Given the description of an element on the screen output the (x, y) to click on. 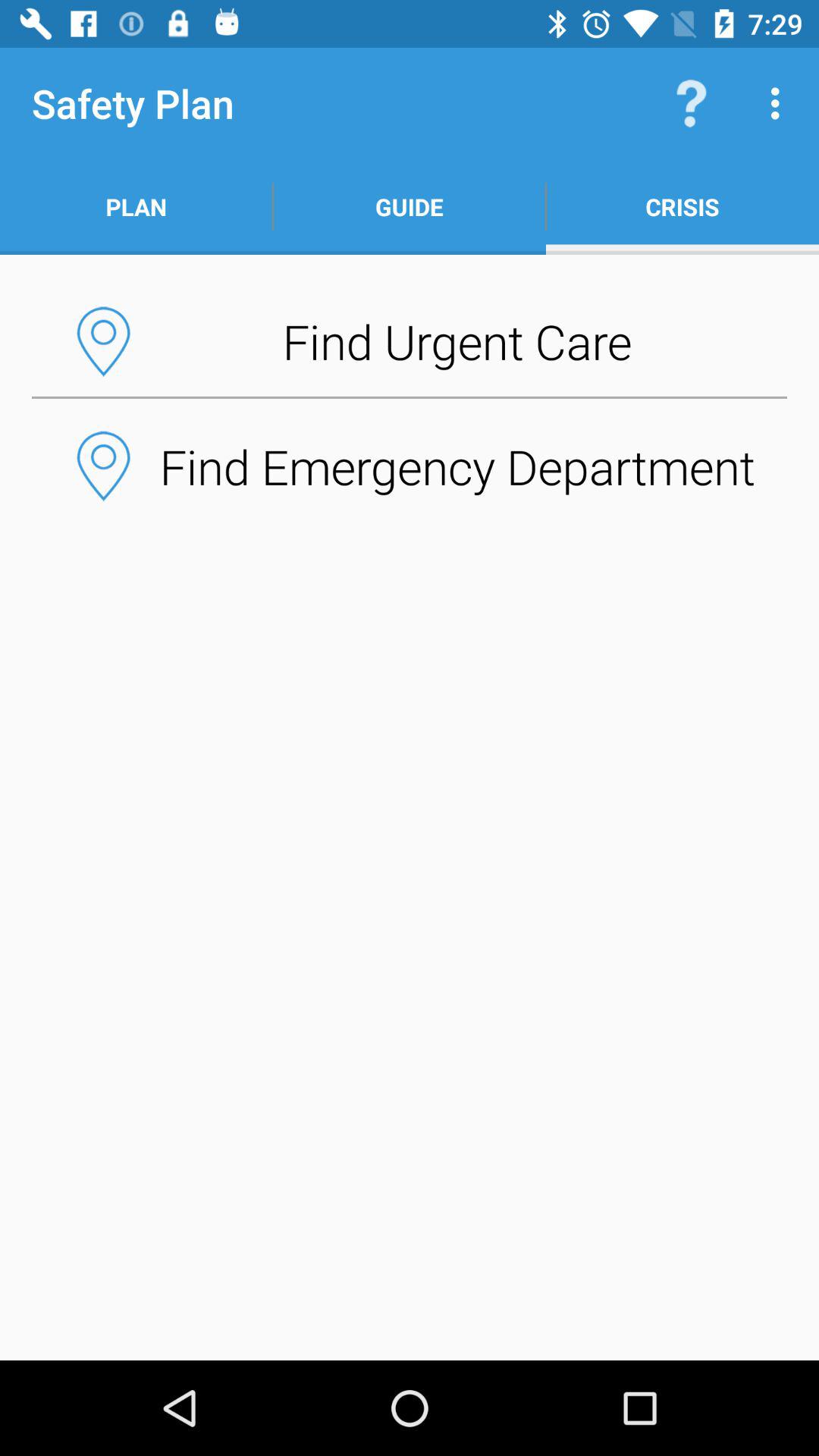
tap icon next to the plan item (409, 206)
